Given the description of an element on the screen output the (x, y) to click on. 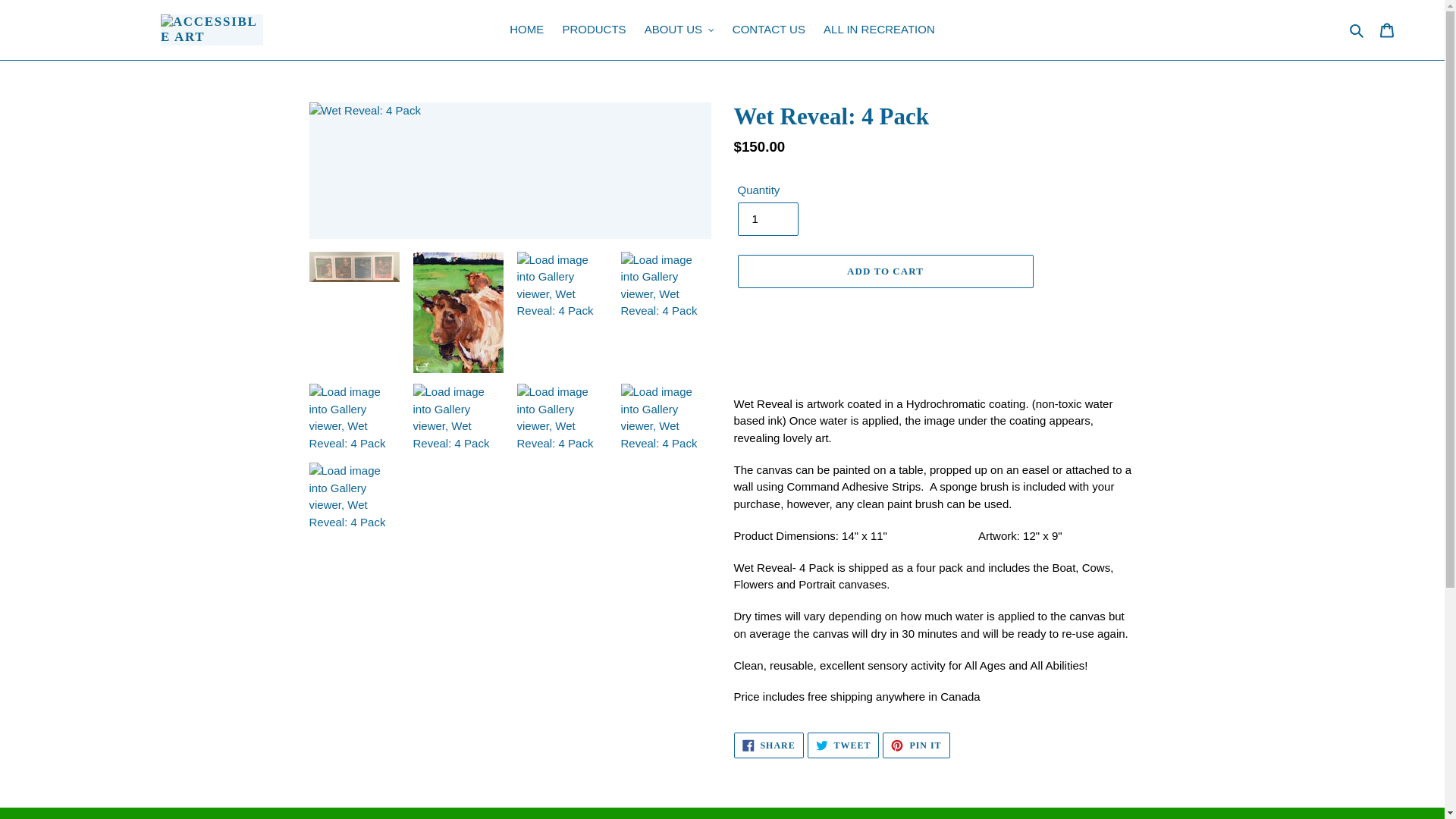
CONTACT US (768, 29)
Search (1357, 29)
Cart (1387, 29)
HOME (526, 29)
ABOUT US (679, 29)
PRODUCTS (593, 29)
ADD TO CART (884, 271)
ALL IN RECREATION (878, 29)
1 (768, 745)
